Given the description of an element on the screen output the (x, y) to click on. 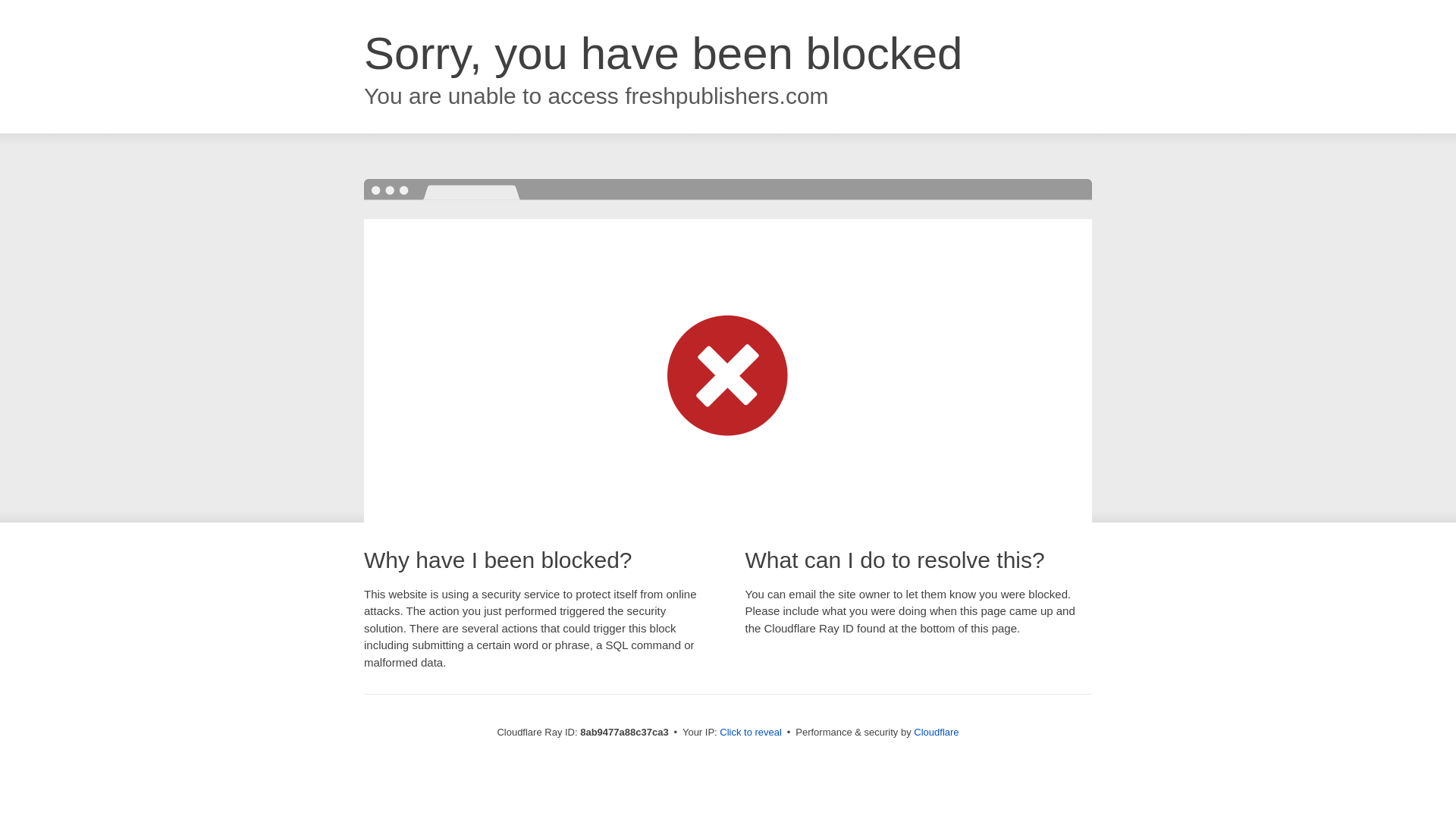
Click to reveal (750, 732)
Cloudflare (936, 731)
